Given the description of an element on the screen output the (x, y) to click on. 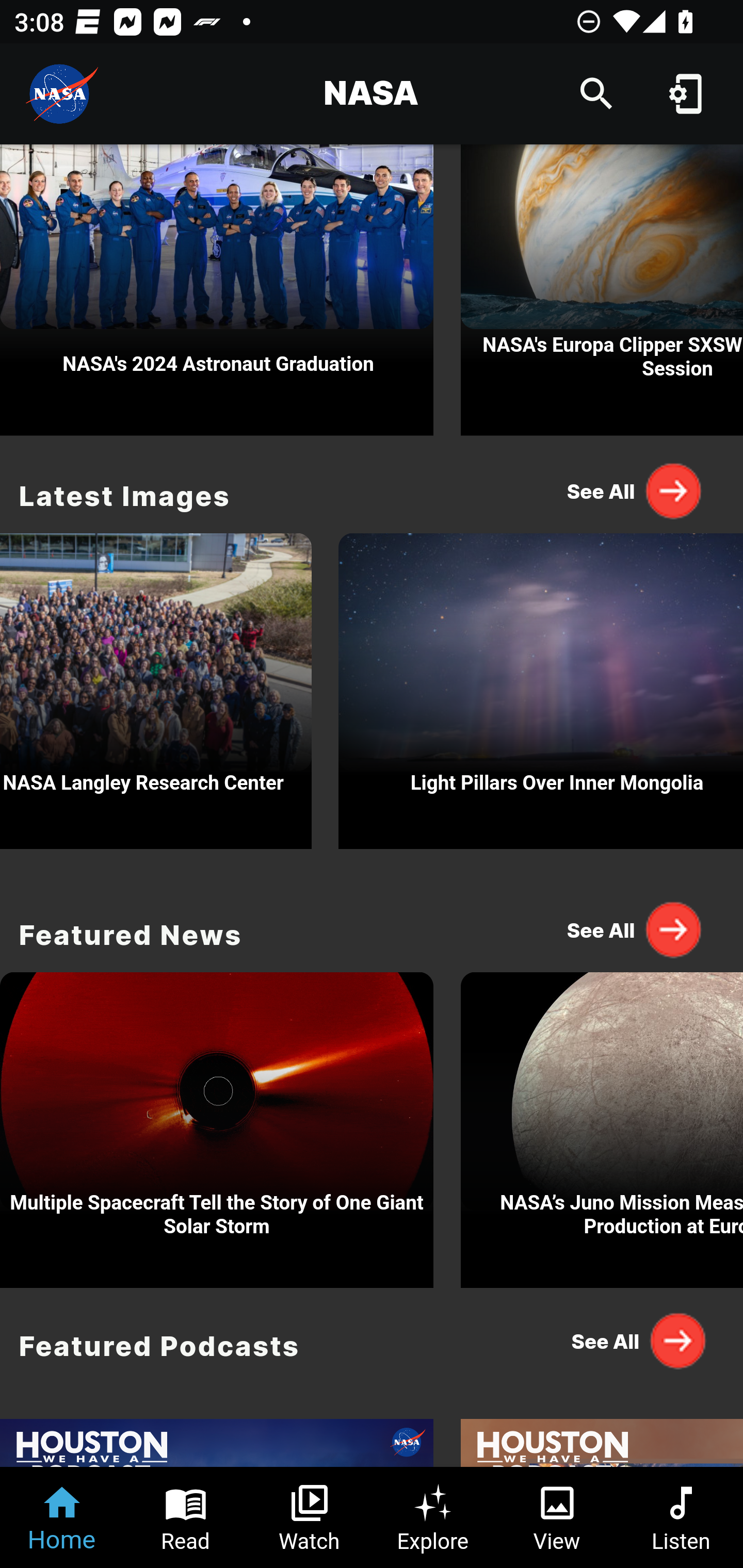
NASA's 2024 Astronaut Graduation (216, 289)
NASA's Europa Clipper SXSW 2024 Opening Session (601, 289)
See All (634, 490)
Women of NASA Langley Research Center (155, 685)
Light Pillars Over Inner Mongolia (540, 685)
See All (634, 928)
See All (634, 1340)
Home
Tab 1 of 6 (62, 1517)
Read
Tab 2 of 6 (185, 1517)
Watch
Tab 3 of 6 (309, 1517)
Explore
Tab 4 of 6 (433, 1517)
View
Tab 5 of 6 (556, 1517)
Listen
Tab 6 of 6 (680, 1517)
